Given the description of an element on the screen output the (x, y) to click on. 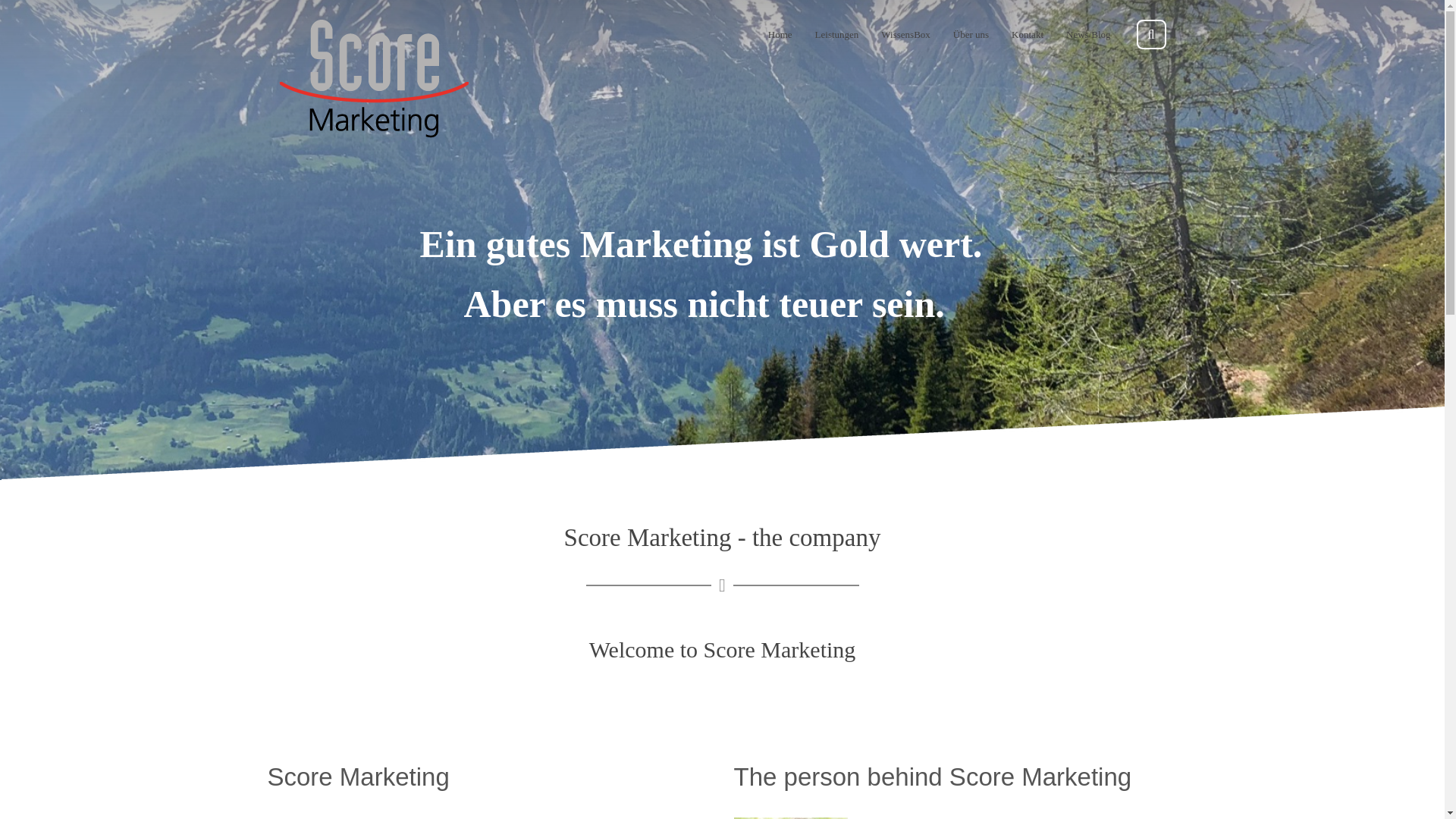
WissensBox (905, 34)
Leistungen (837, 34)
